Given the description of an element on the screen output the (x, y) to click on. 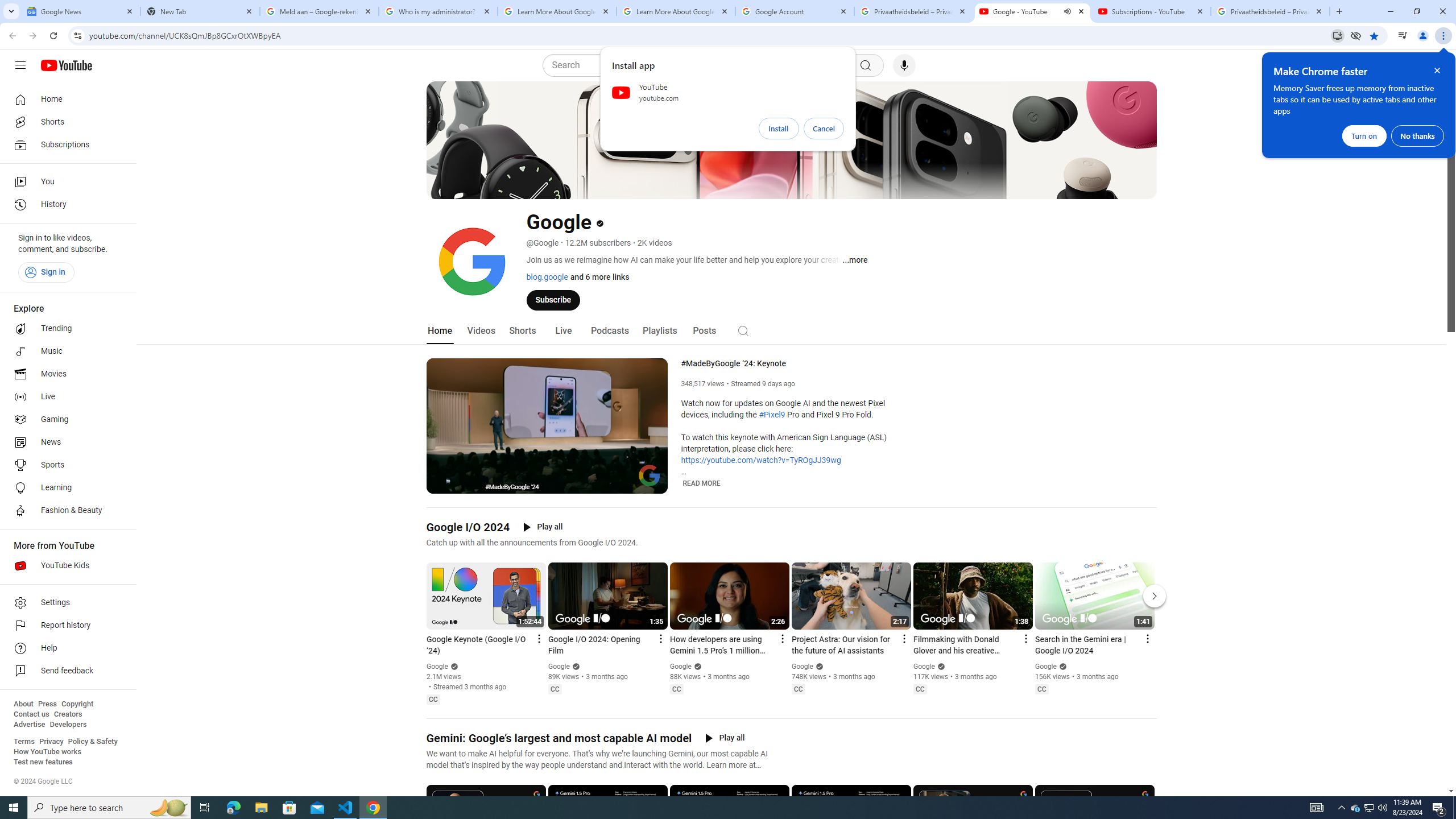
Test new features (42, 761)
Cancel (823, 128)
Movies (64, 373)
No thanks (1417, 135)
Google News (80, 11)
Gaming (64, 419)
Google - YouTube - Audio playing (1032, 11)
blog.google (546, 276)
